Given the description of an element on the screen output the (x, y) to click on. 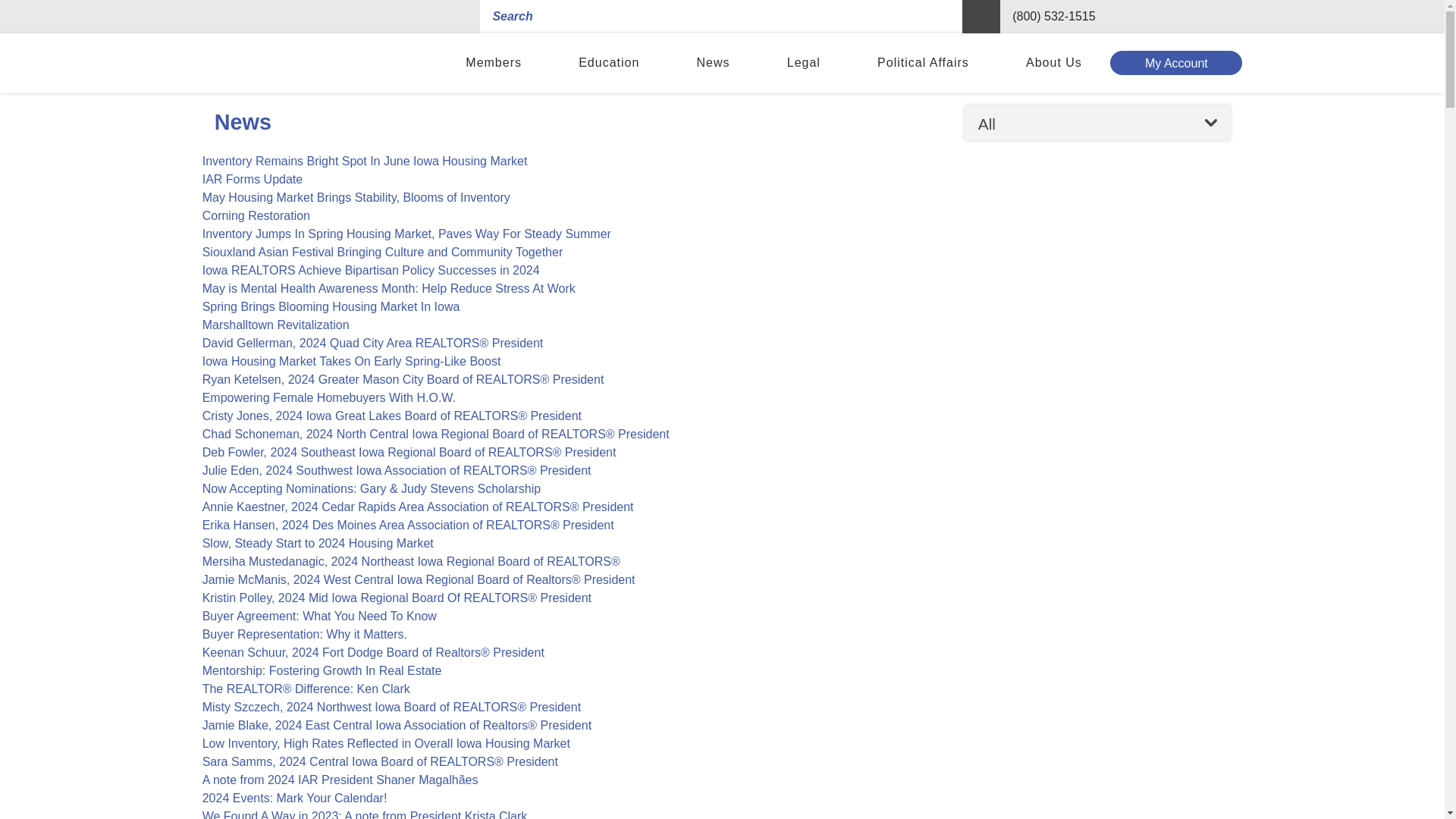
Facebook (1122, 17)
Search (981, 16)
Members (494, 63)
Search (981, 16)
Youtube (1185, 17)
Education (609, 63)
Twitter (1216, 17)
Instagram (1154, 17)
